Given the description of an element on the screen output the (x, y) to click on. 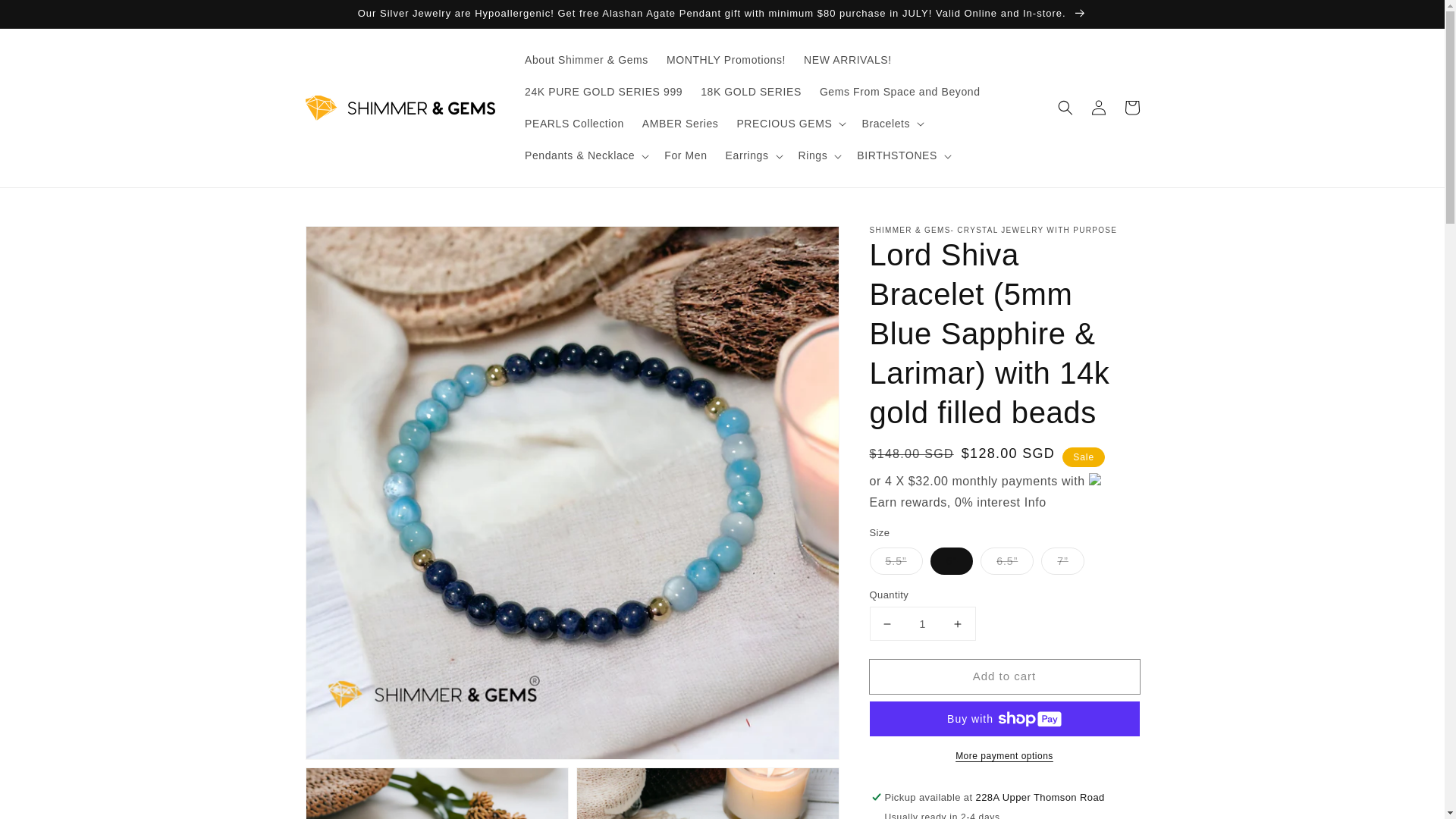
Skip to content (45, 16)
1 (922, 623)
